Given the description of an element on the screen output the (x, y) to click on. 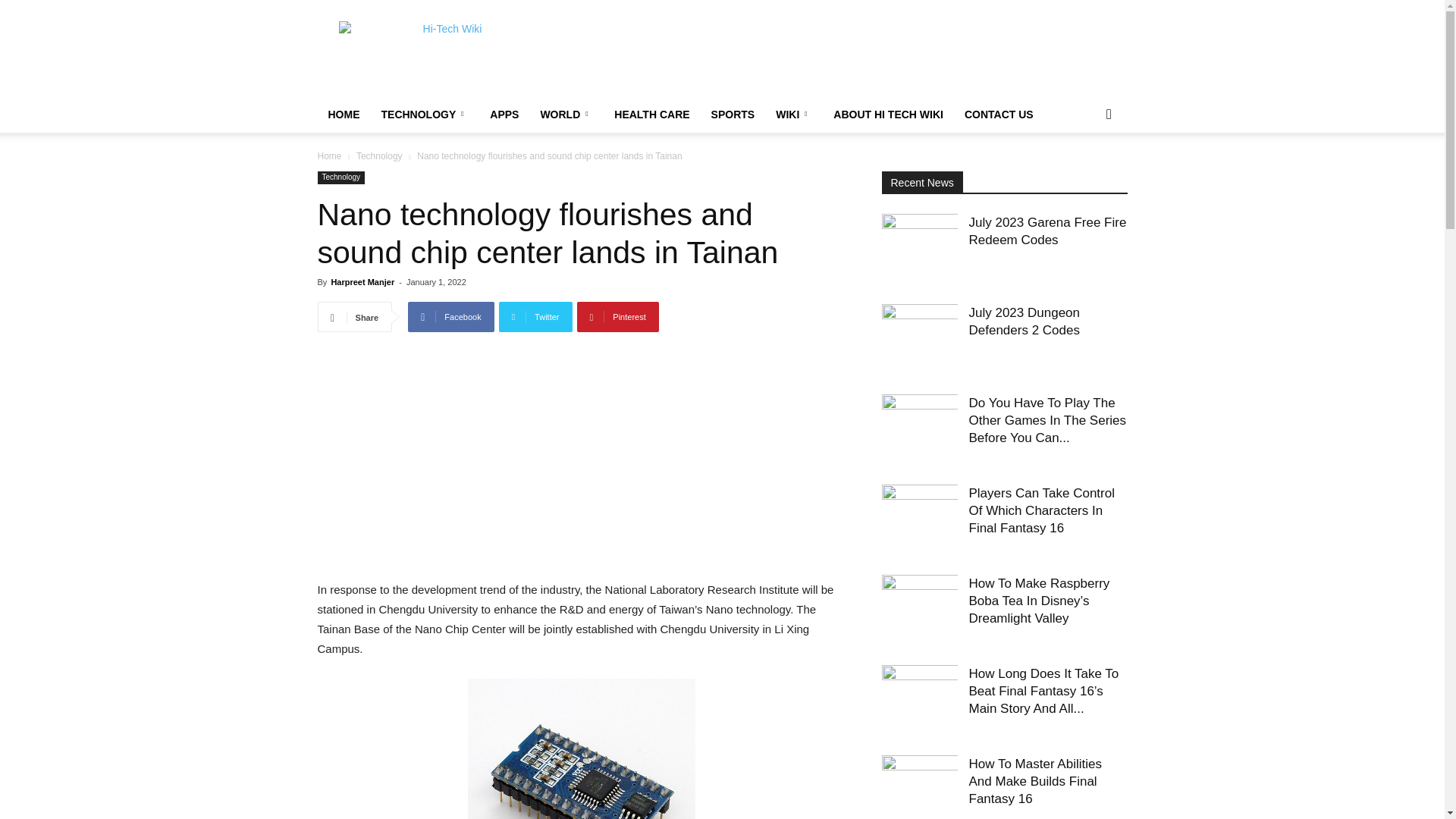
Advertisement (580, 466)
A Complete News Site (445, 55)
TECHNOLOGY (424, 114)
HOME (343, 114)
WIKI (793, 114)
View all posts in Technology (379, 155)
APPS (504, 114)
SPORTS (732, 114)
HEALTH CARE (652, 114)
WORLD (566, 114)
